Given the description of an element on the screen output the (x, y) to click on. 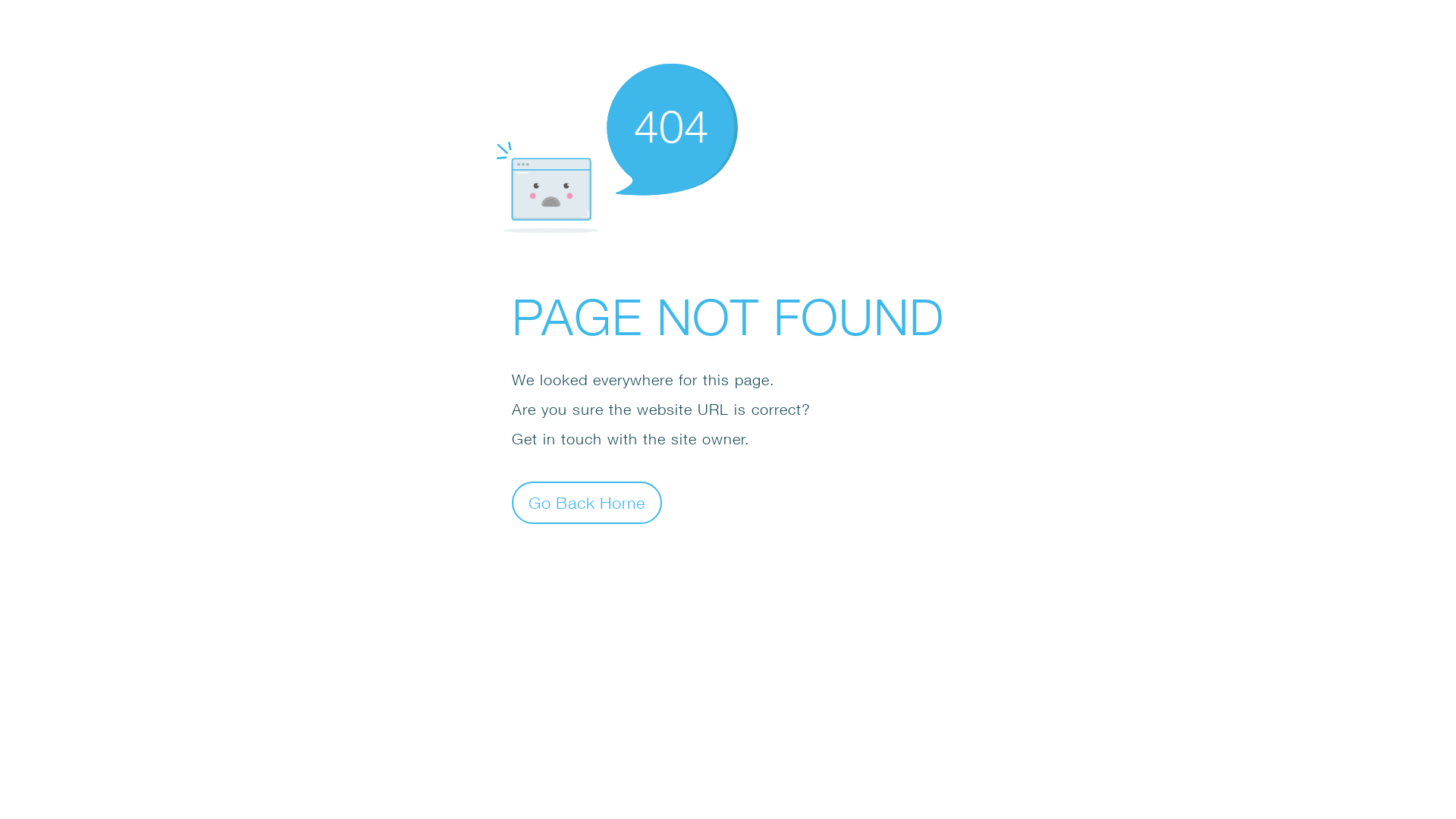
Go Back Home Element type: text (586, 502)
